Given the description of an element on the screen output the (x, y) to click on. 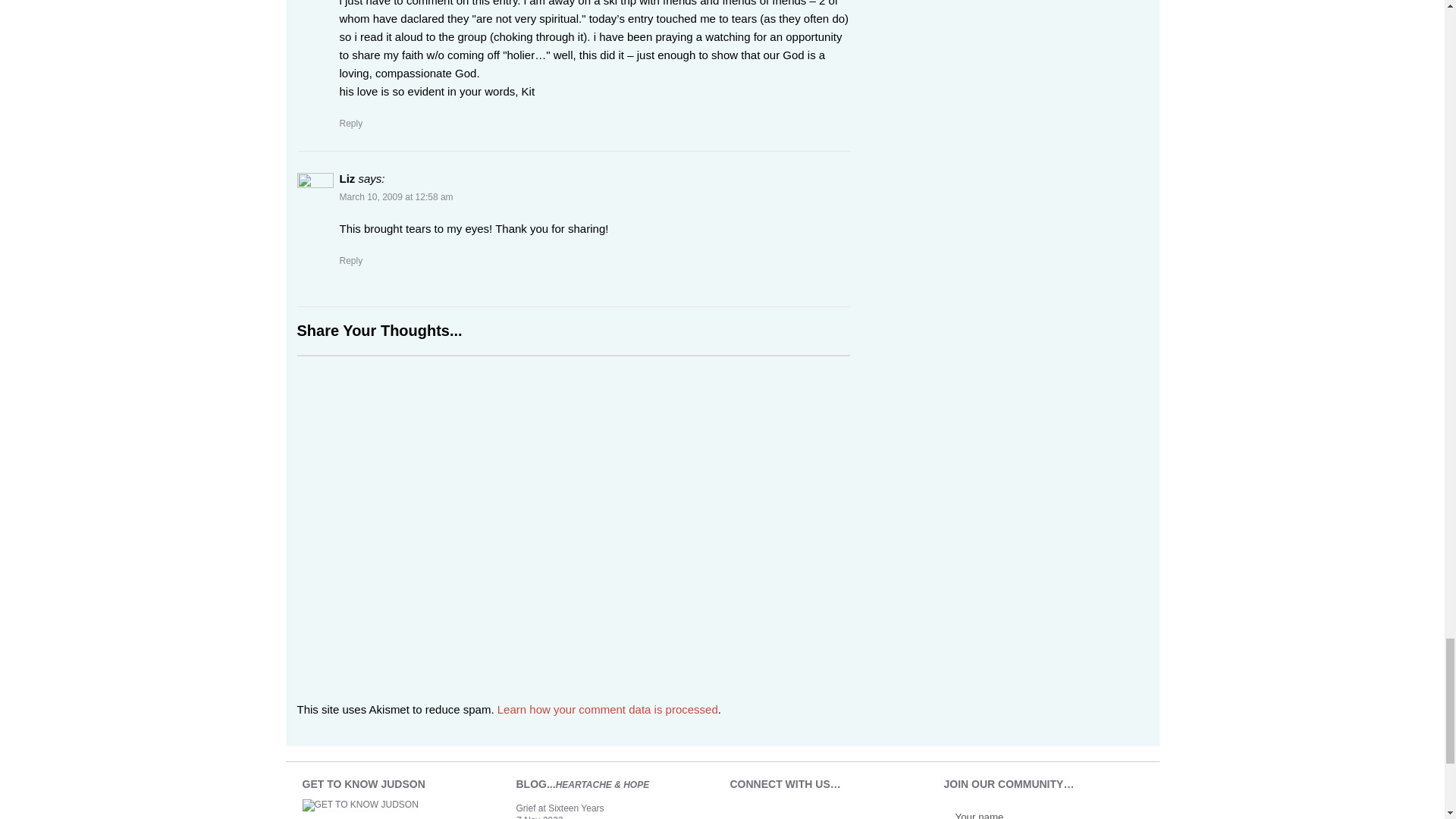
Your name (1024, 812)
GET TO KNOW JUDSON (370, 809)
Permanent link to Grief at Sixteen Years (559, 808)
Ok (1115, 816)
